Given the description of an element on the screen output the (x, y) to click on. 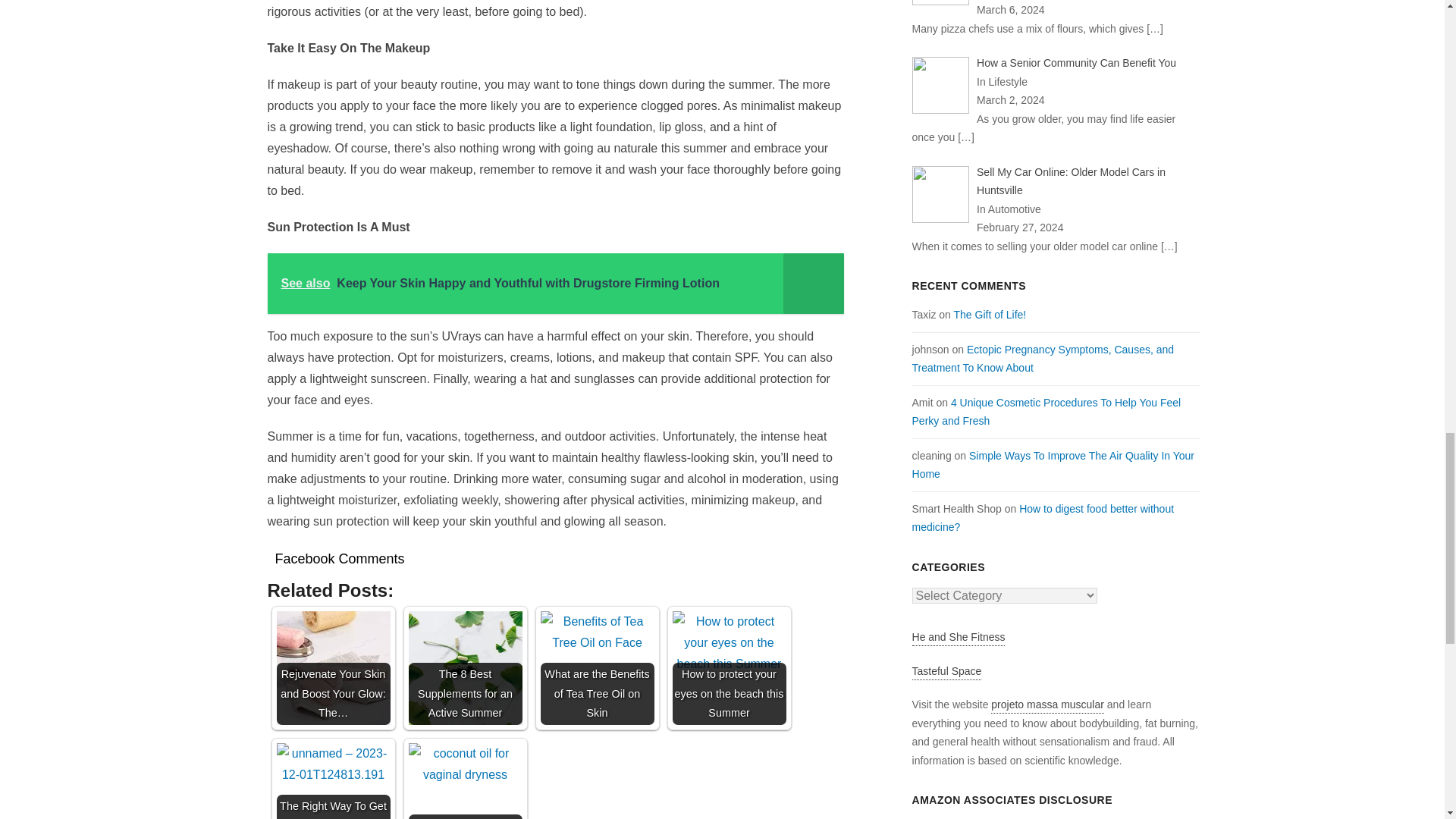
How to protect your eyes on the beach this Summer (728, 642)
The Right Way To Get Vitamin D From The Sun (333, 763)
The 8 Best Supplements for an Active Summer (464, 667)
Get To Know About The Vaginal Health (464, 763)
What are the Benefits of Tea Tree Oil on Skin (596, 631)
